Given the description of an element on the screen output the (x, y) to click on. 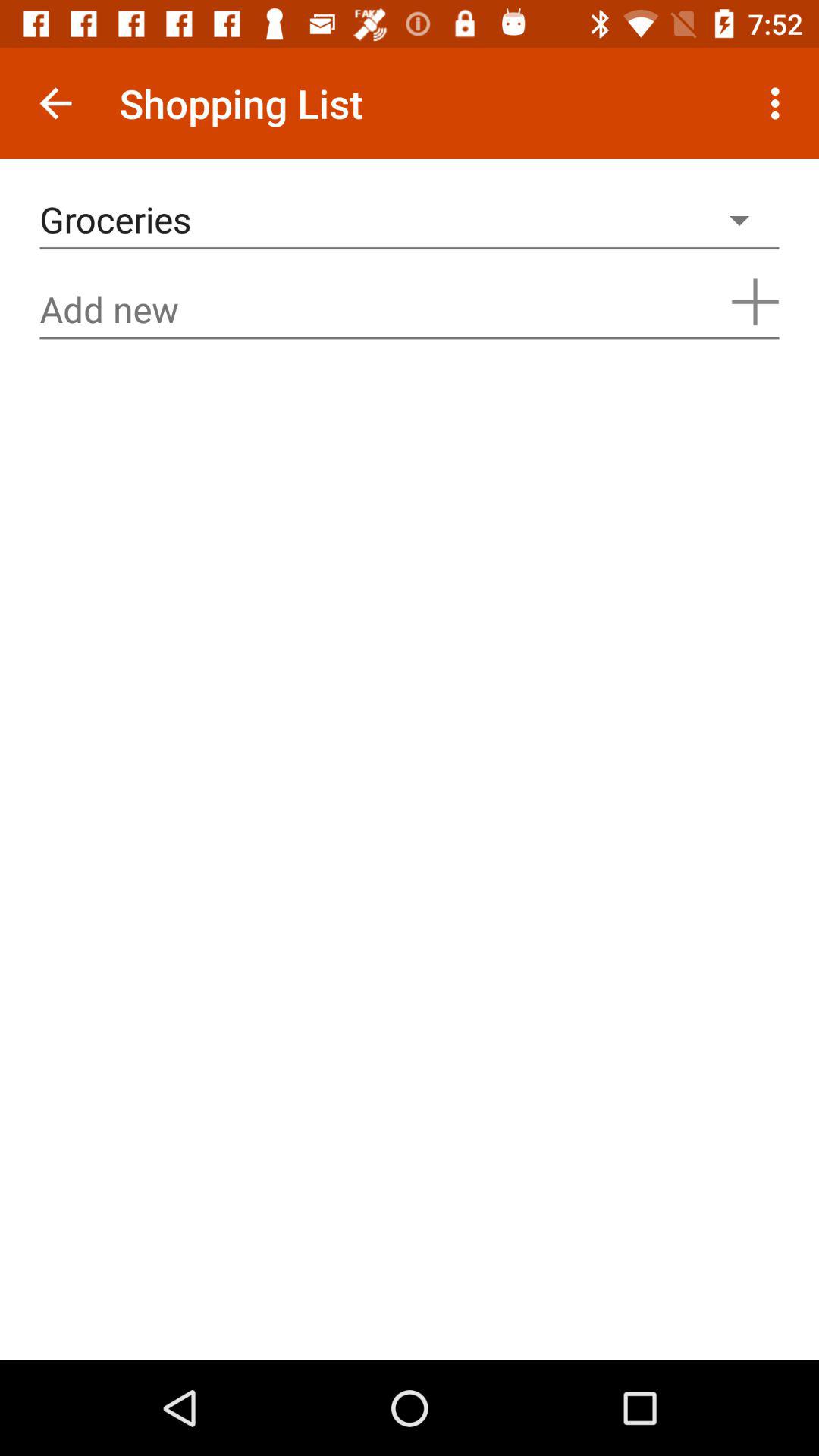
more (755, 301)
